Given the description of an element on the screen output the (x, y) to click on. 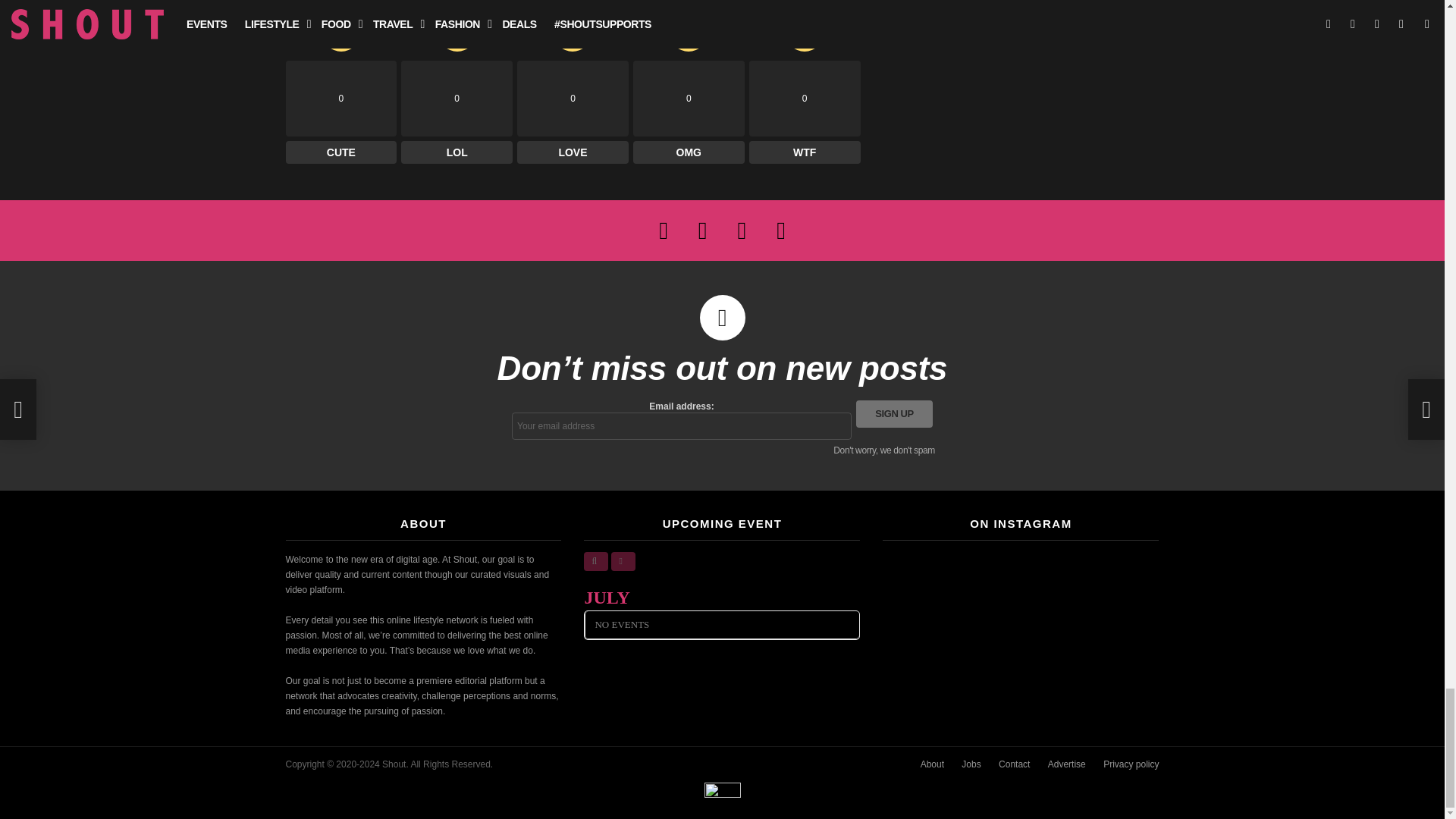
Sign up (894, 413)
